Given the description of an element on the screen output the (x, y) to click on. 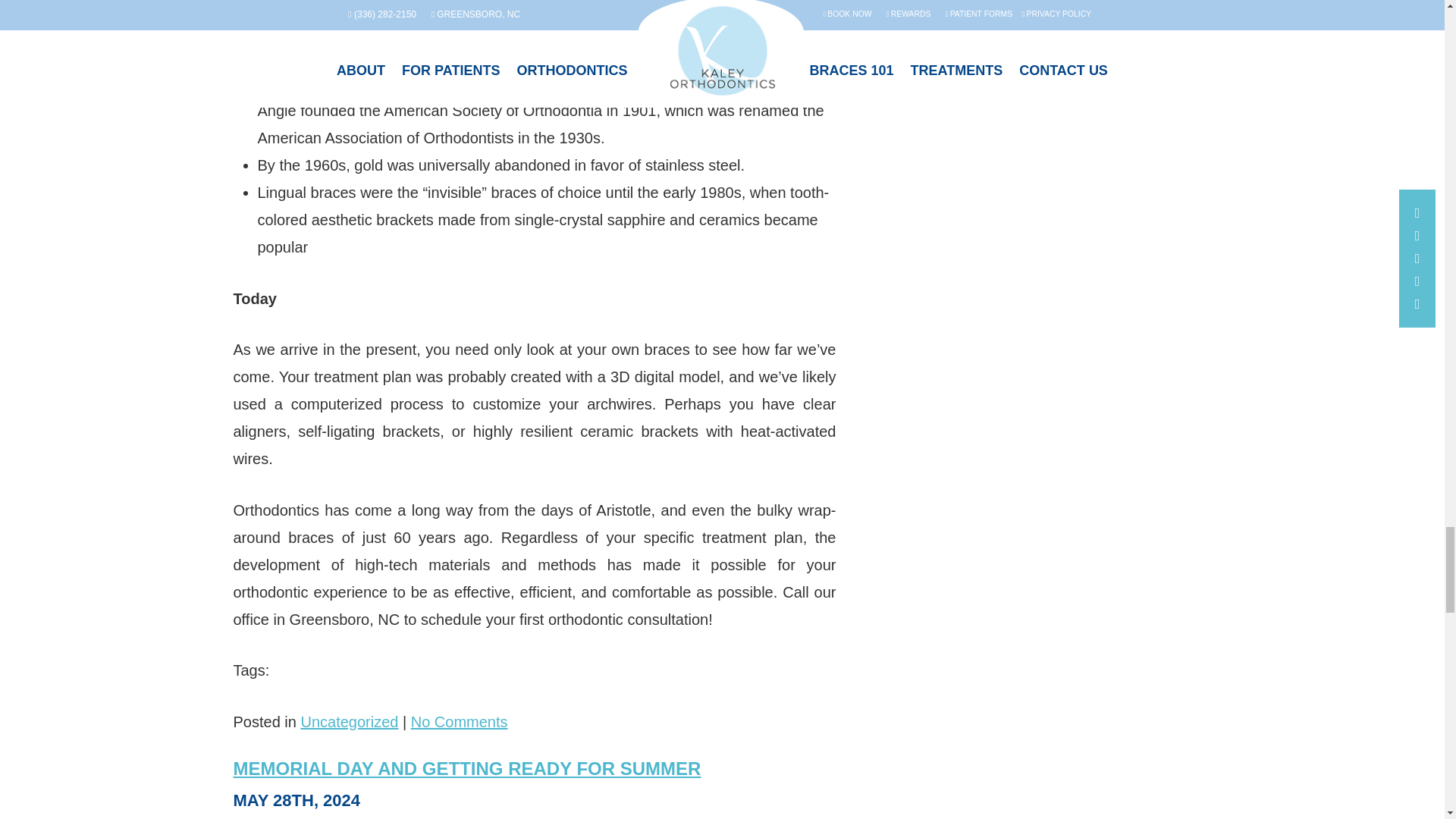
Permanent Link to Memorial Day and Getting Ready for Summer (466, 768)
